Given the description of an element on the screen output the (x, y) to click on. 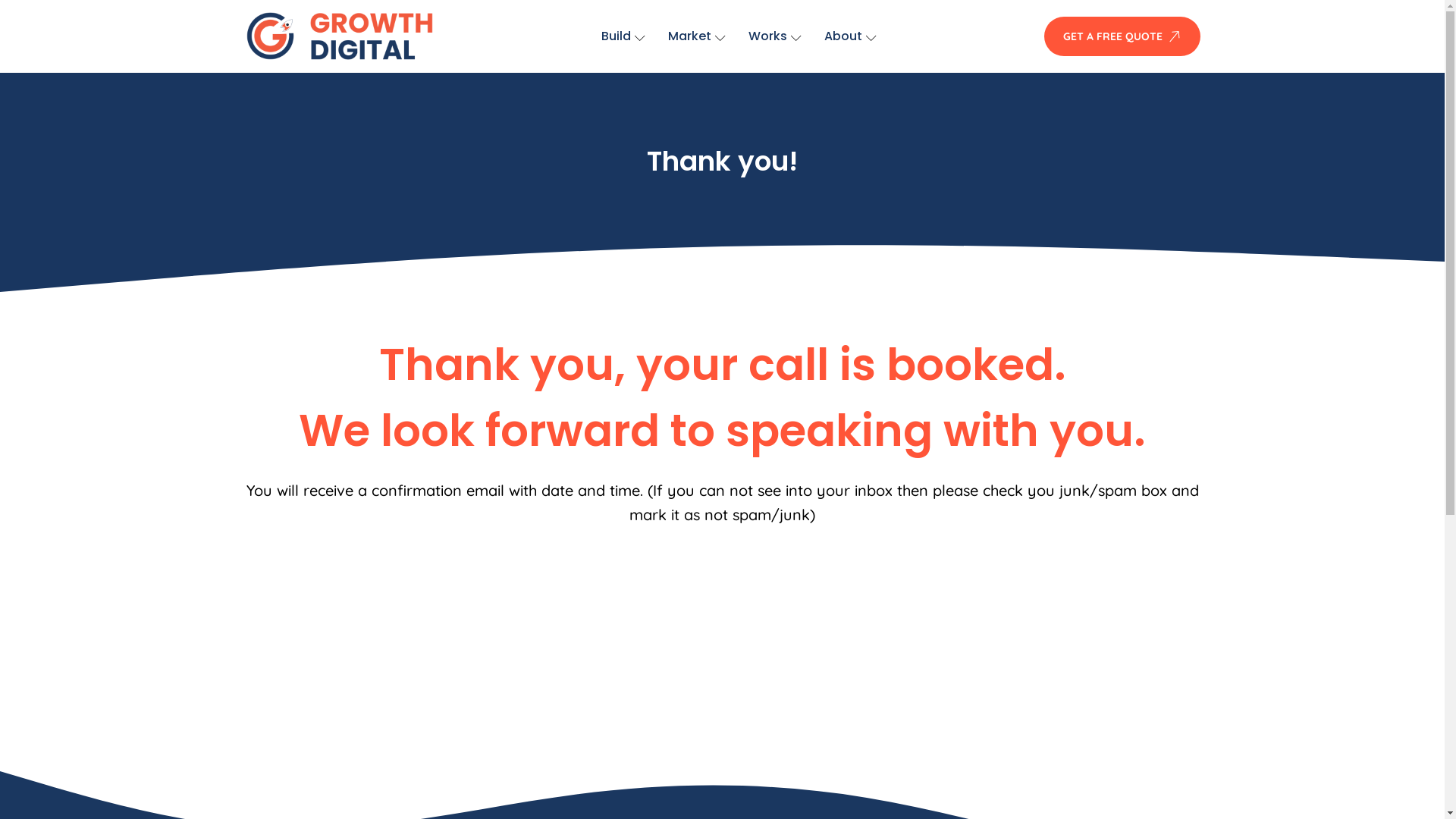
GET A FREE QUOTE Element type: text (1121, 36)
About Element type: text (850, 36)
Build Element type: text (623, 36)
Market Element type: text (696, 36)
Works Element type: text (774, 36)
